Given the description of an element on the screen output the (x, y) to click on. 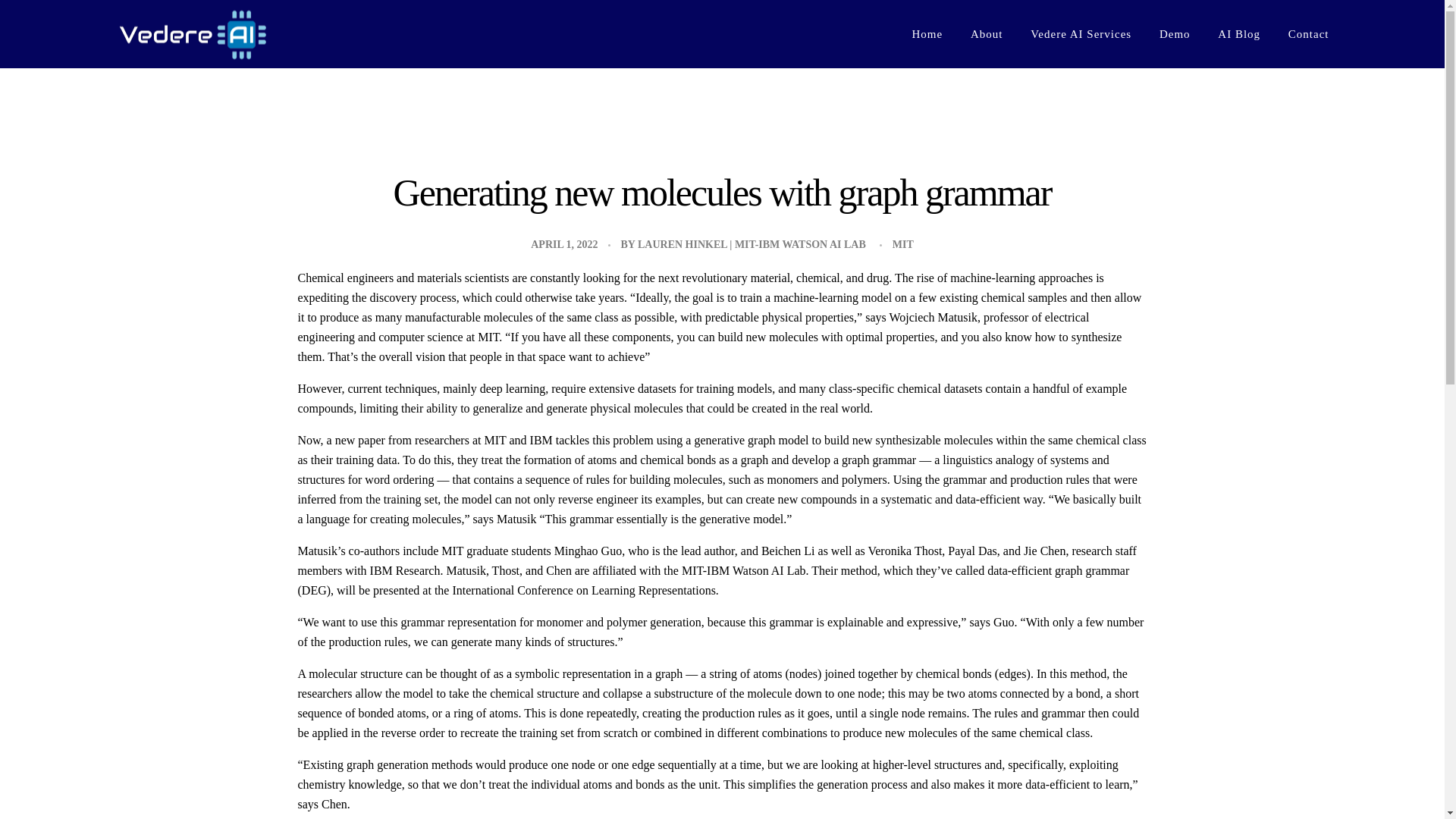
MIT (903, 244)
About (986, 15)
Home (934, 13)
Contact (1300, 27)
Vedere AI Services (1080, 18)
AI Blog (1239, 25)
Demo (1174, 22)
View all posts in MIT (903, 244)
